Given the description of an element on the screen output the (x, y) to click on. 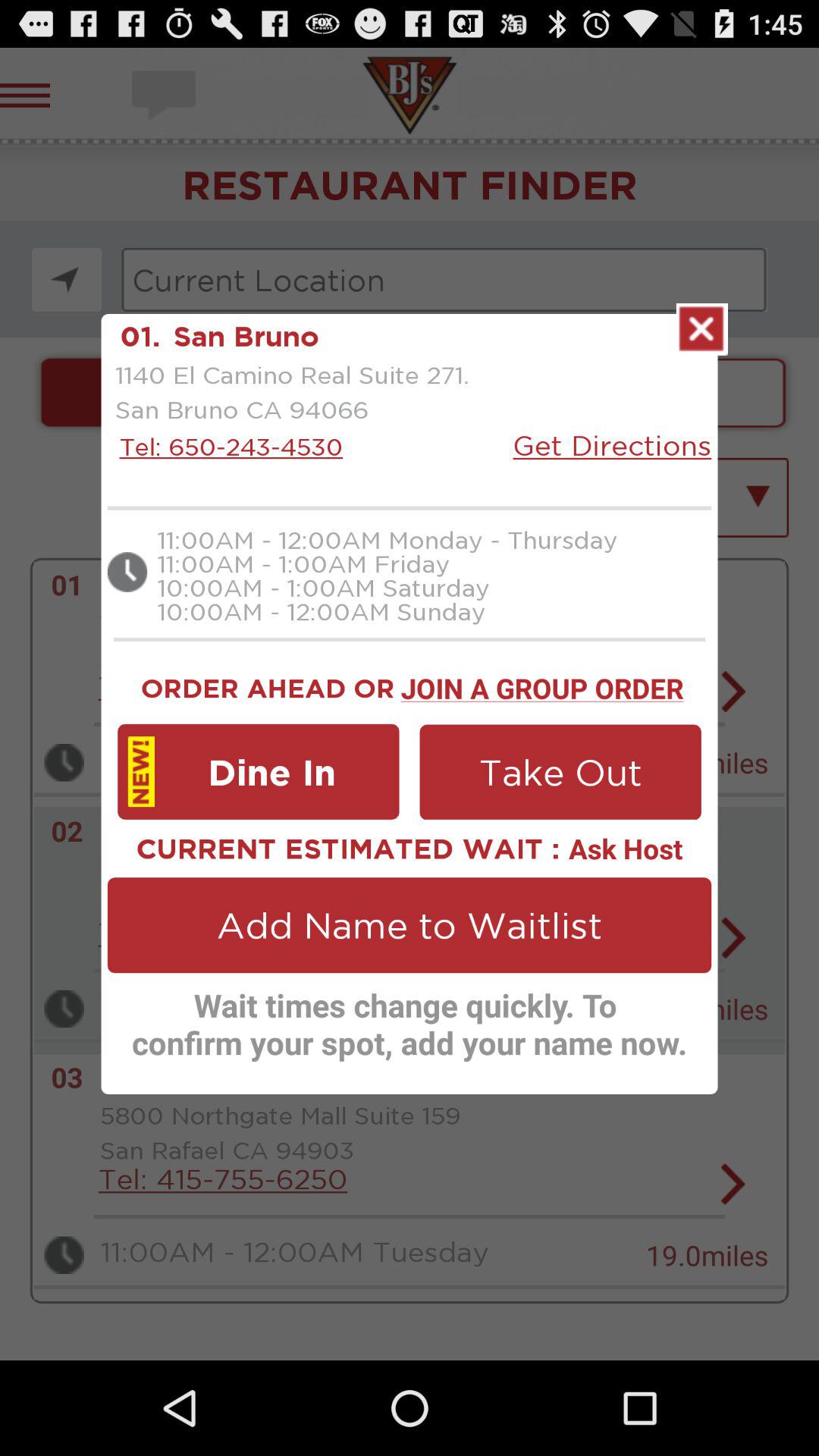
open tel 650 243 item (226, 446)
